Given the description of an element on the screen output the (x, y) to click on. 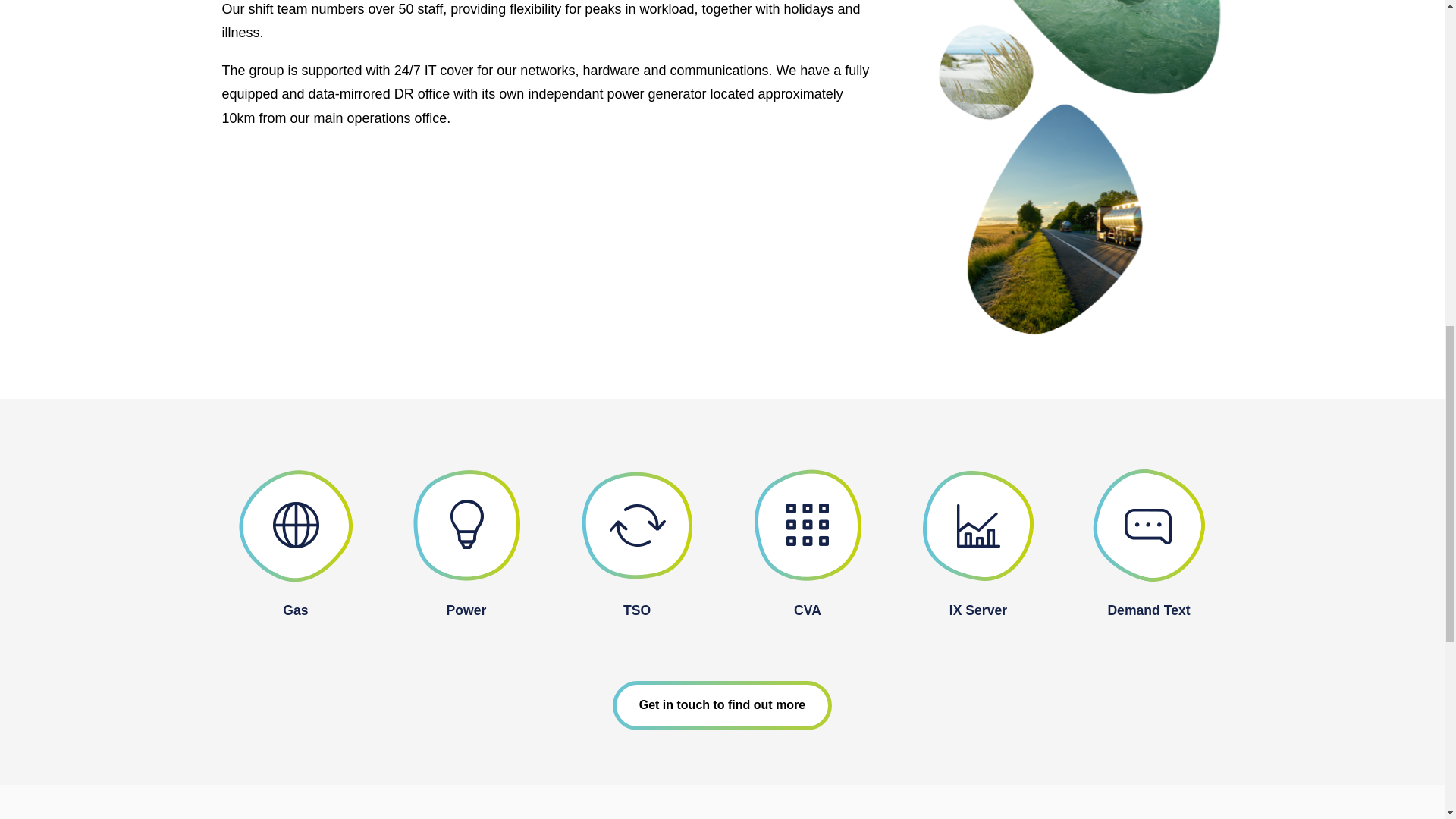
Gas (294, 609)
Power (466, 609)
